Given the description of an element on the screen output the (x, y) to click on. 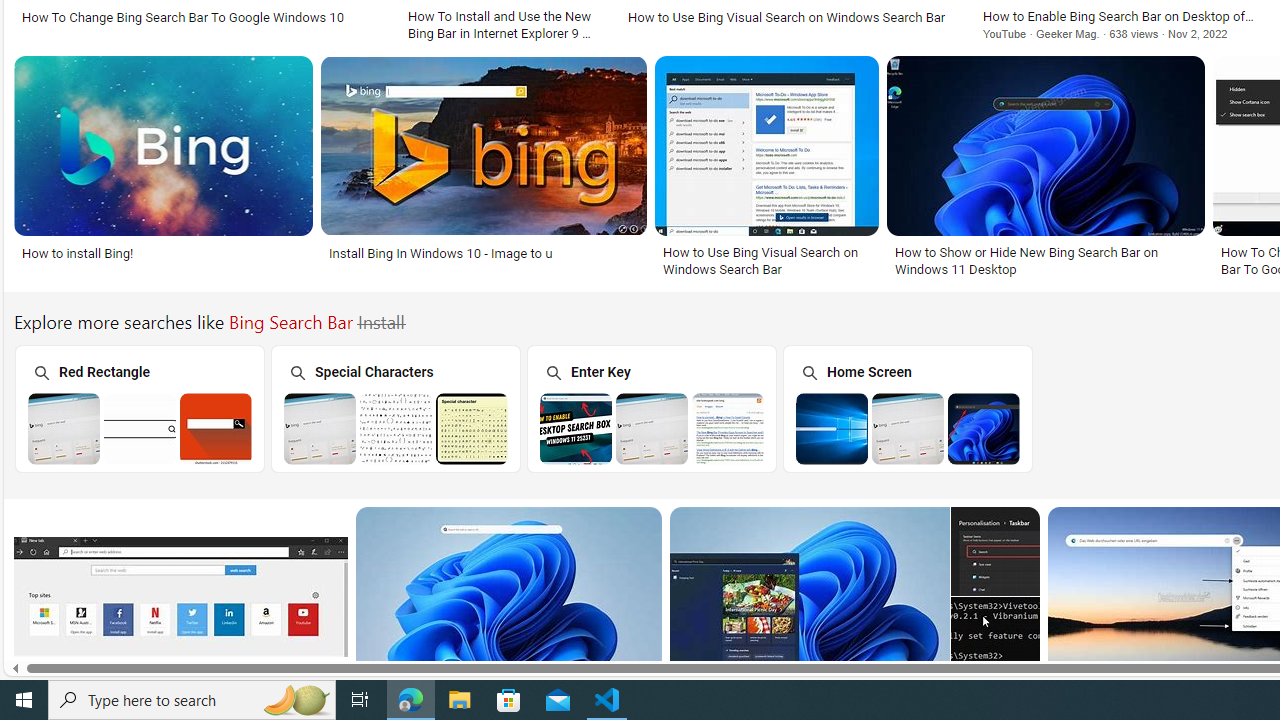
How to Use Bing Visual Search on Windows Search BarSave (771, 169)
How To Change Bing Search Bar To Google Windows 10 (202, 16)
How to Use Bing Visual Search on Windows Search Bar (766, 260)
